Given the description of an element on the screen output the (x, y) to click on. 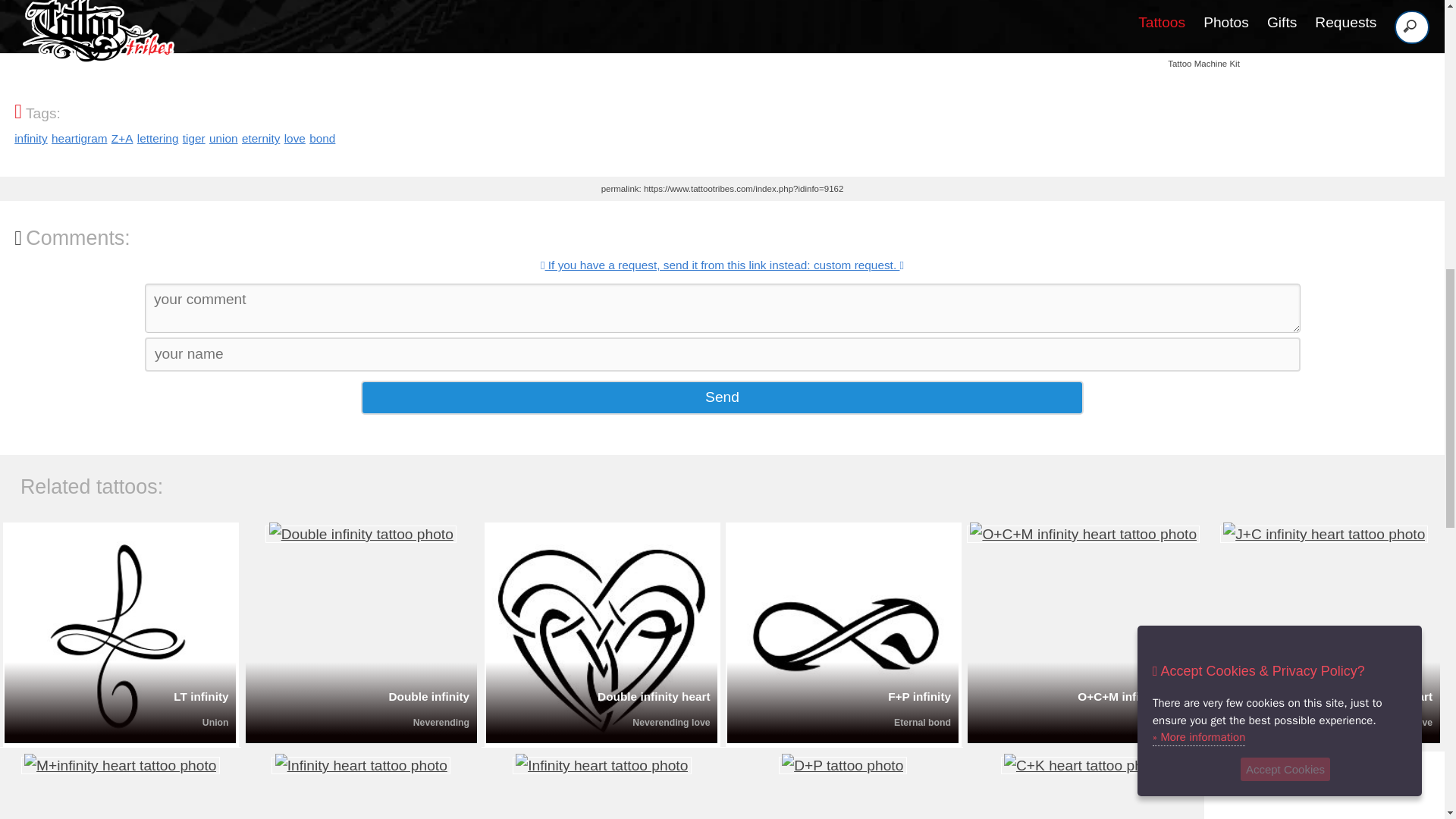
union (223, 137)
Send (722, 397)
heartigram (78, 137)
lettering (157, 137)
Tattoo Machine Kit (1202, 46)
love (294, 137)
Dragonhawk Wireless Machine Kit (1202, 46)
tiger (194, 137)
eternity (260, 137)
infinity (31, 137)
